Given the description of an element on the screen output the (x, y) to click on. 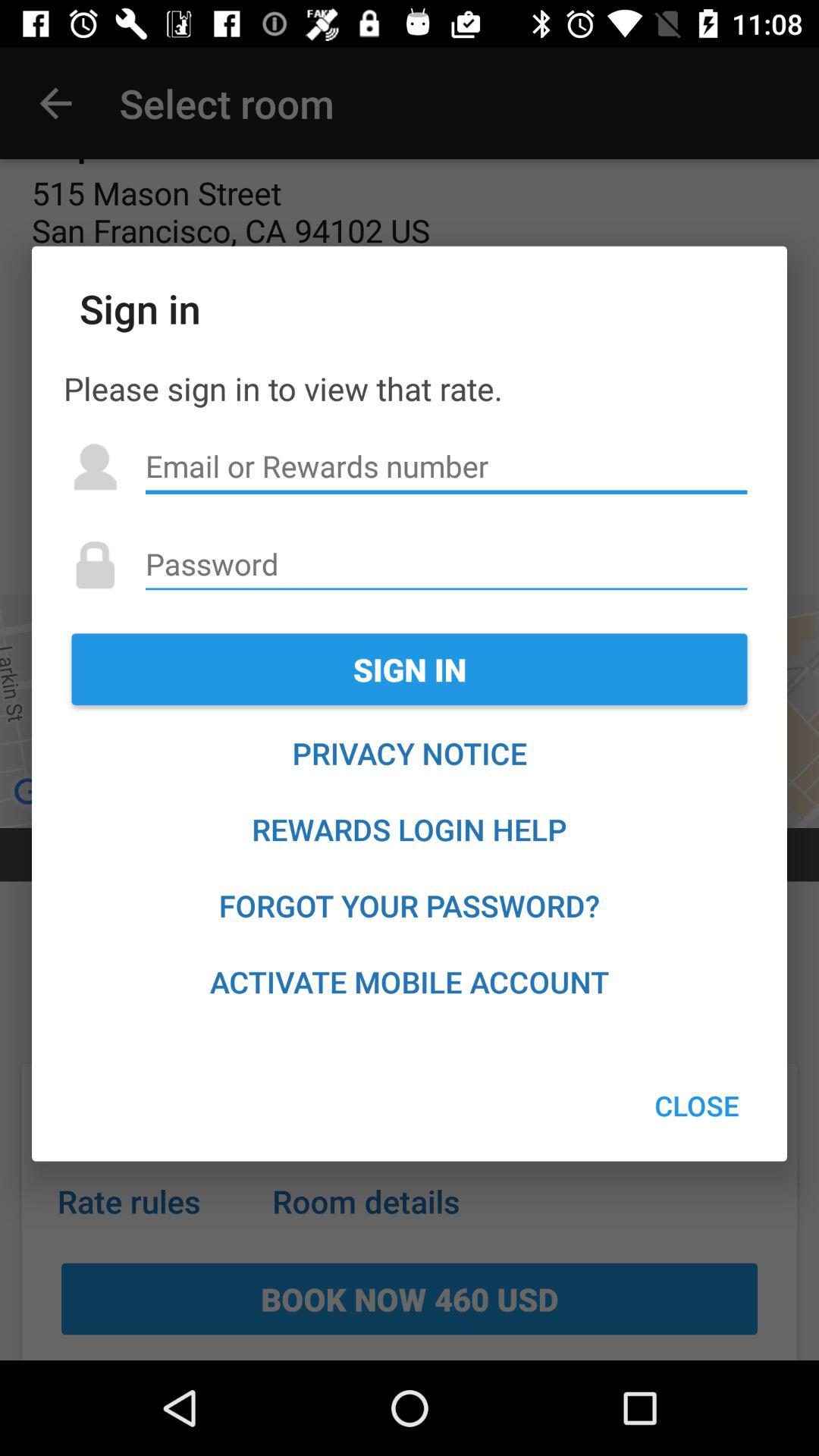
tap icon below forgot your password? item (409, 981)
